Given the description of an element on the screen output the (x, y) to click on. 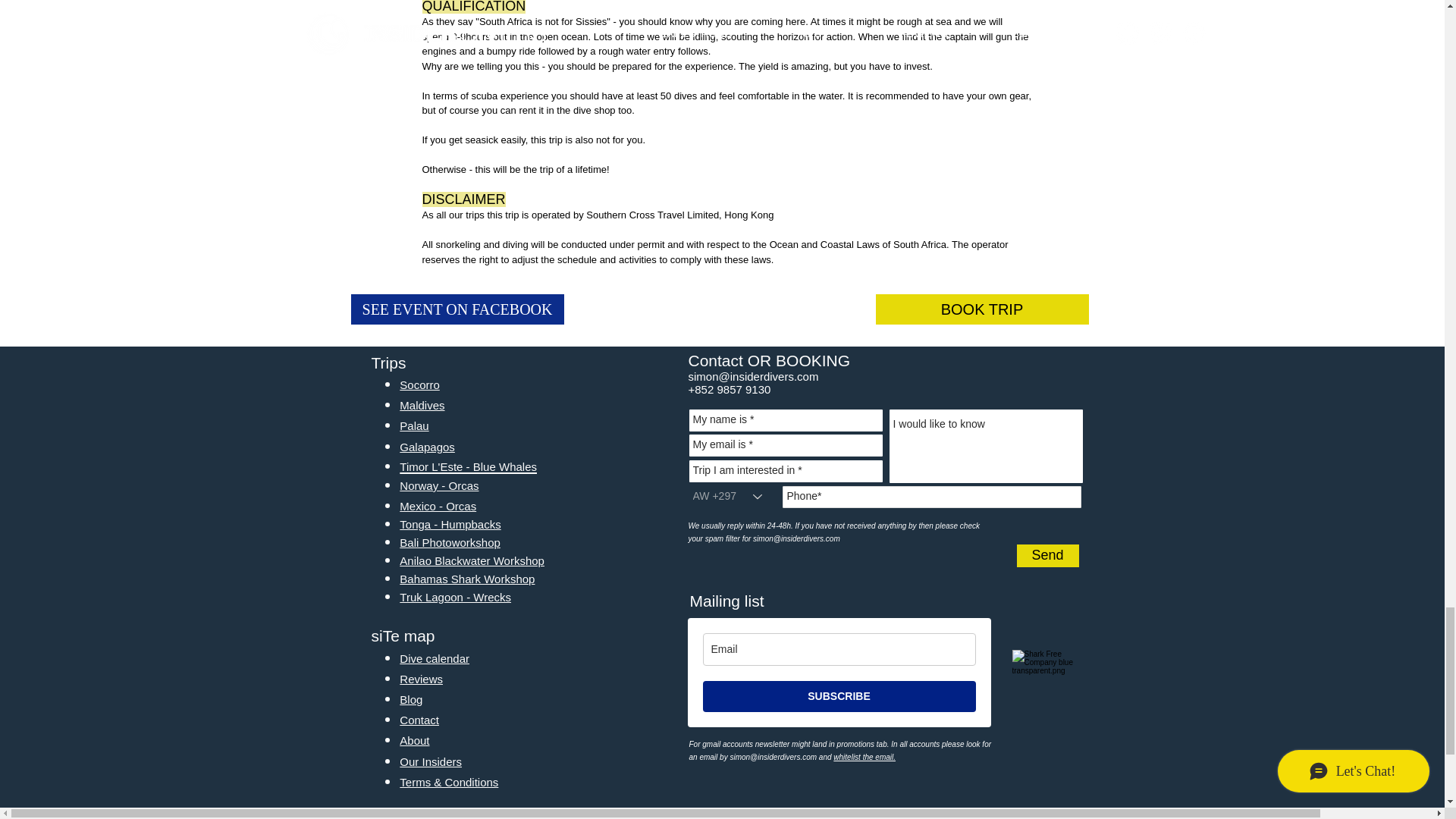
SEE EVENT ON FACEBOOK (456, 309)
Embedded Content (838, 691)
BOOK TRIP (981, 309)
